Given the description of an element on the screen output the (x, y) to click on. 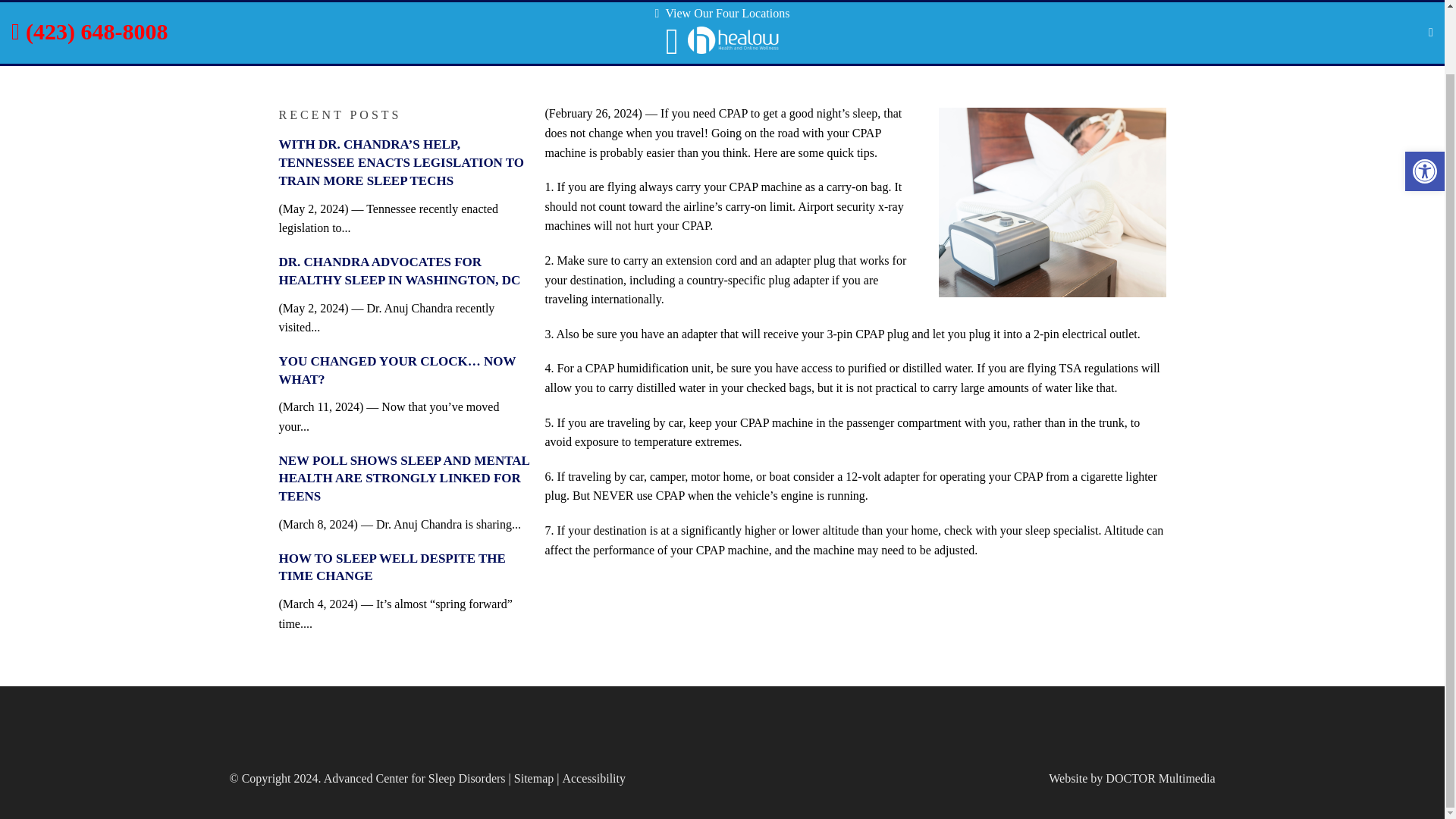
Sitemap (533, 778)
Accessibility (594, 778)
HOW TO SLEEP WELL DESPITE THE TIME CHANGE (392, 567)
Accessibility Tools (1424, 100)
DR. CHANDRA ADVOCATES FOR HEALTHY SLEEP IN WASHINGTON, DC (400, 270)
Website by DOCTOR Multimedia (1131, 778)
